Given the description of an element on the screen output the (x, y) to click on. 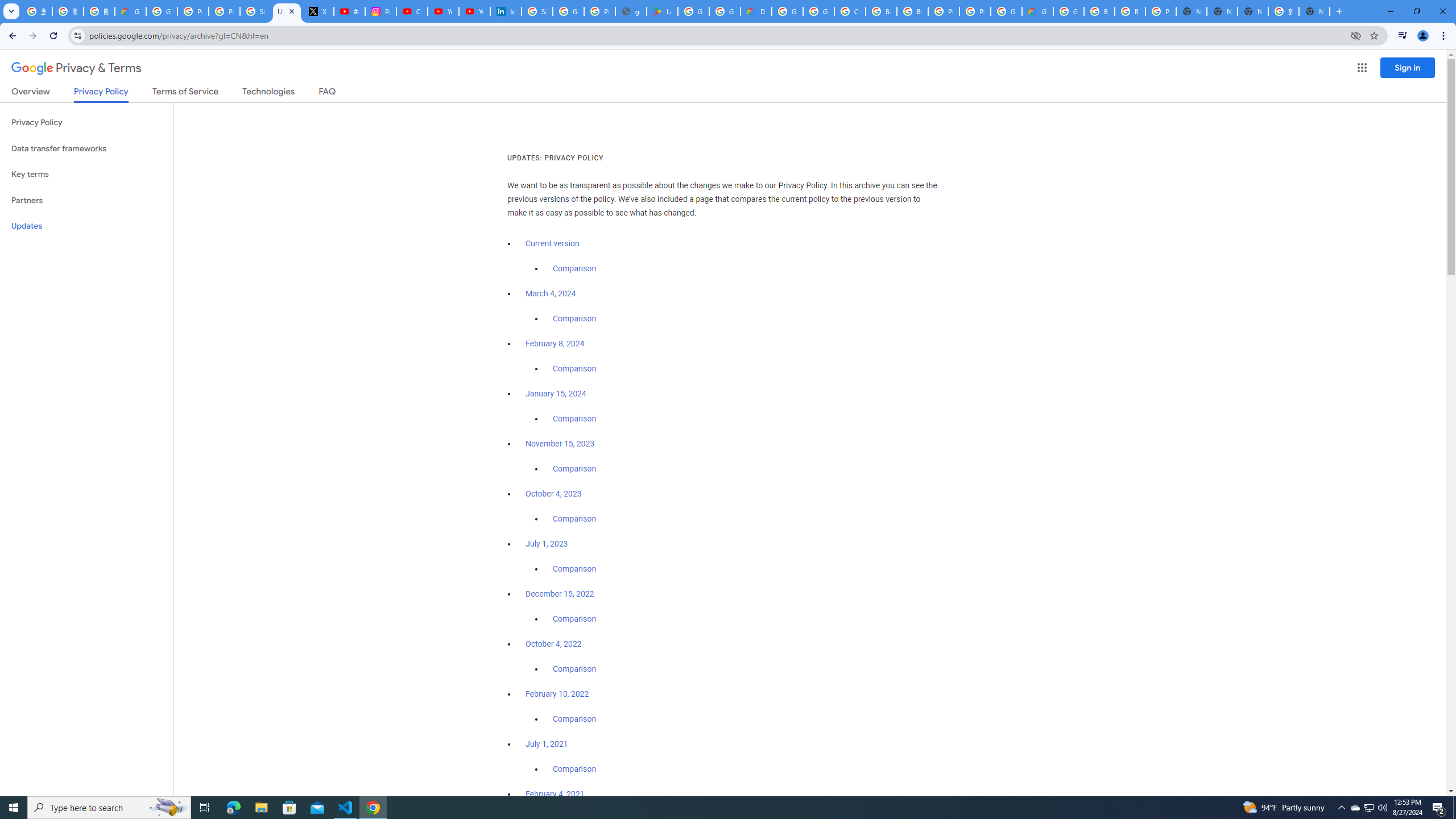
Google Cloud Platform (1005, 11)
Google Cloud Platform (787, 11)
New Tab (1190, 11)
Comparison (574, 768)
Last Shelter: Survival - Apps on Google Play (662, 11)
Sign in - Google Accounts (536, 11)
November 15, 2023 (560, 443)
Google Workspace - Specific Terms (724, 11)
